Given the description of an element on the screen output the (x, y) to click on. 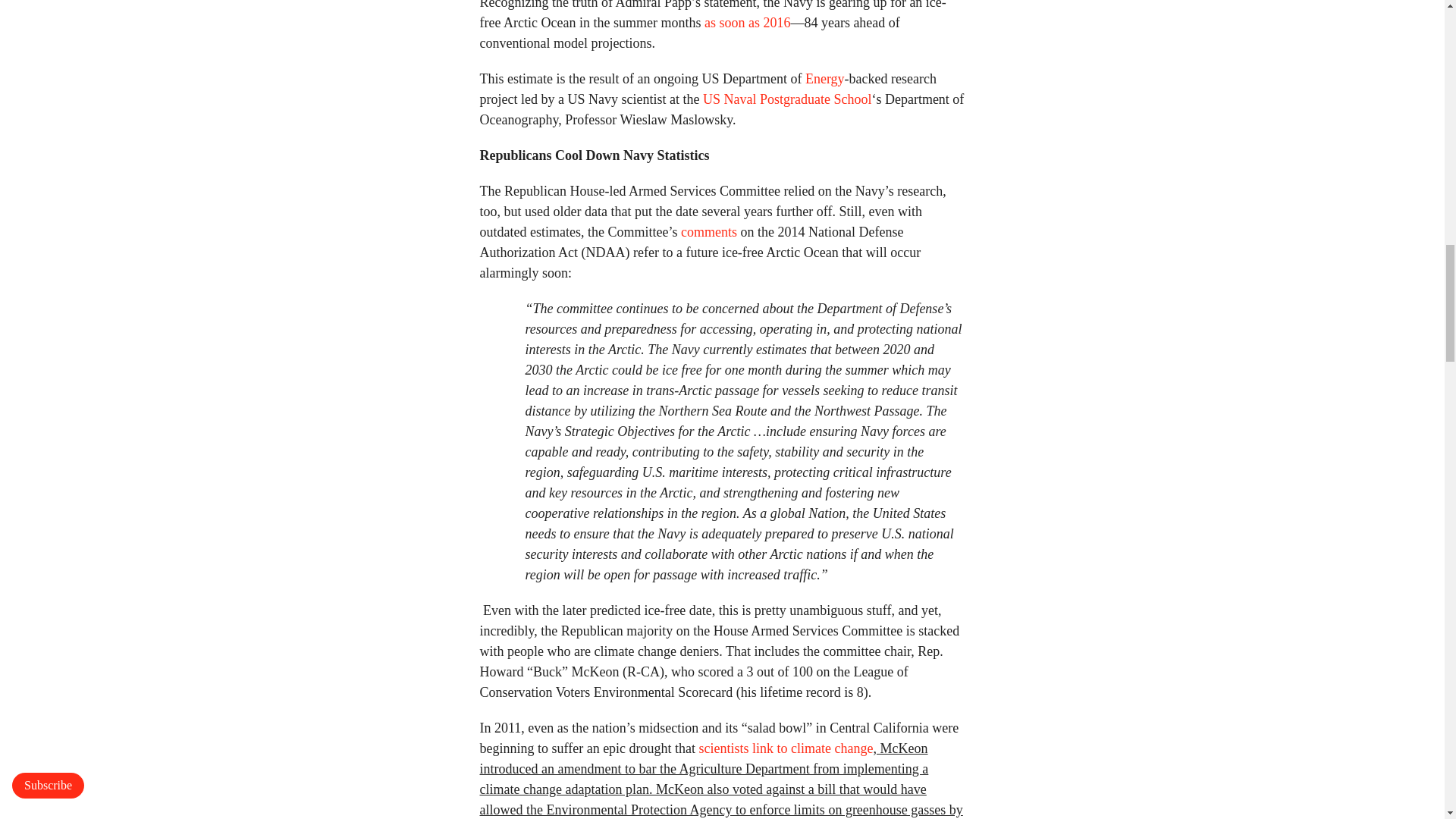
More from the Guardian on Energy (824, 78)
